Given the description of an element on the screen output the (x, y) to click on. 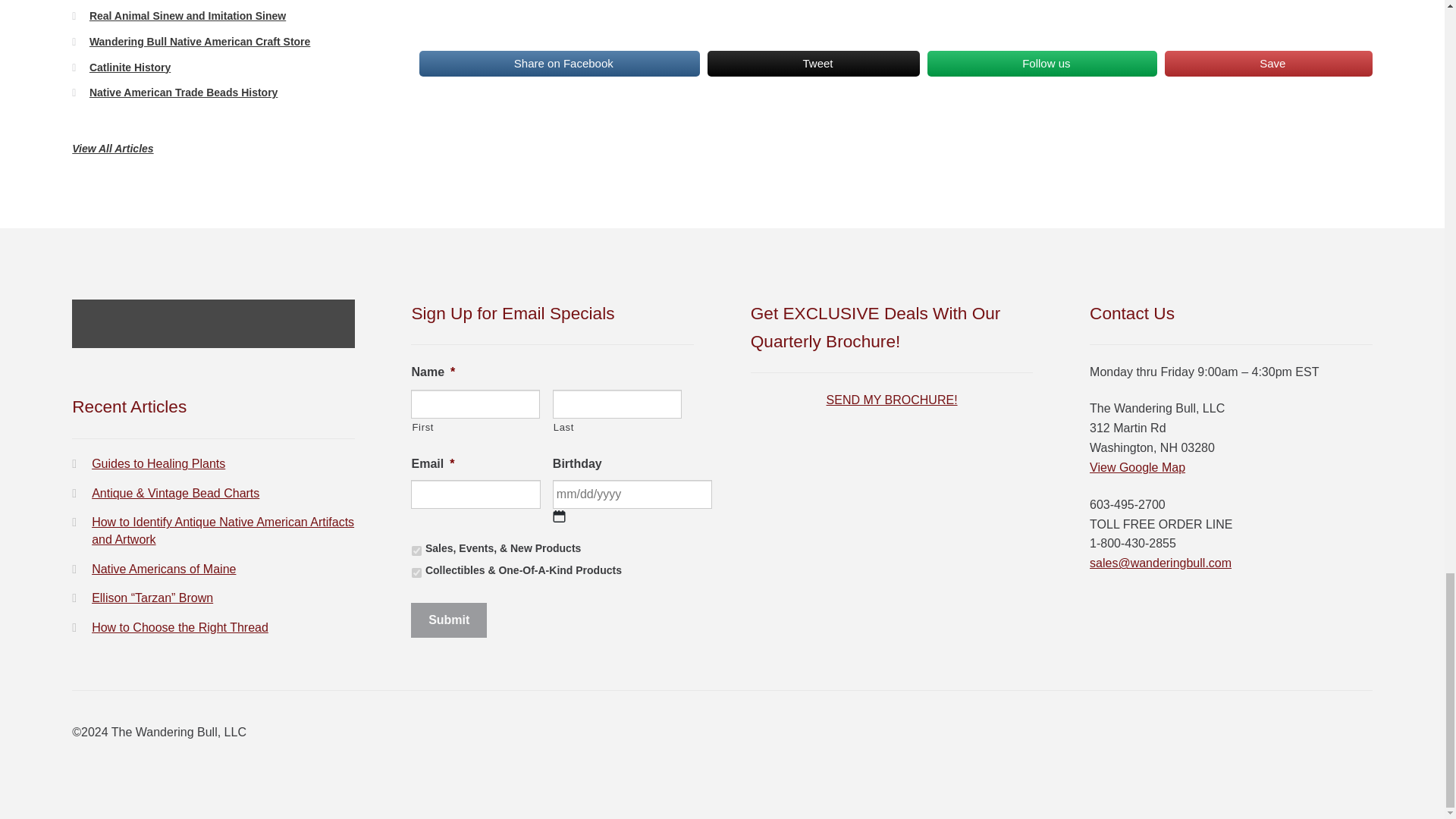
Submit (448, 620)
Select date (559, 516)
